Given the description of an element on the screen output the (x, y) to click on. 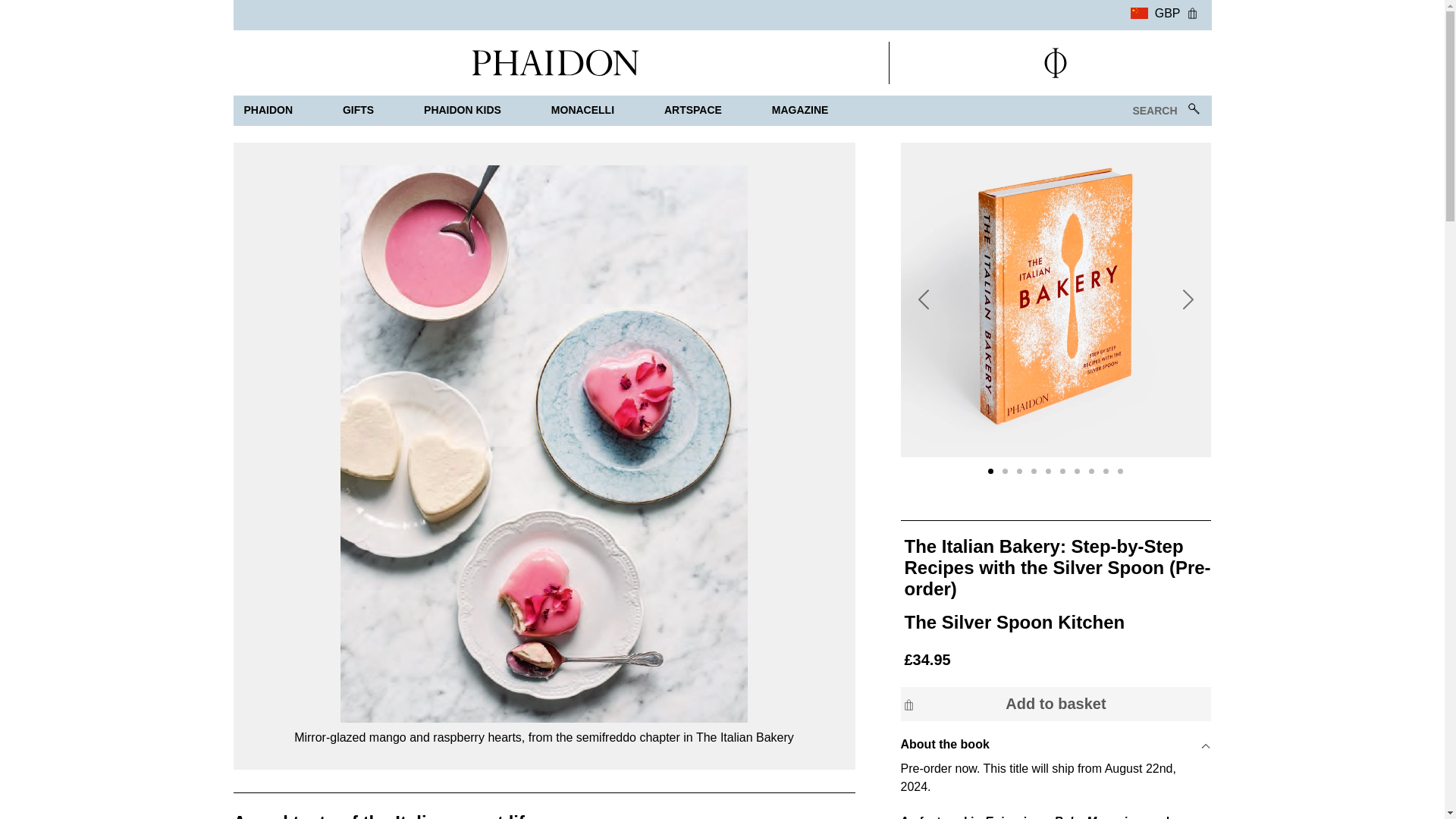
PHAIDON (268, 110)
GIFTS (358, 110)
PHAIDON KIDS (462, 110)
GBP (1155, 11)
MONACELLI (582, 110)
